Given the description of an element on the screen output the (x, y) to click on. 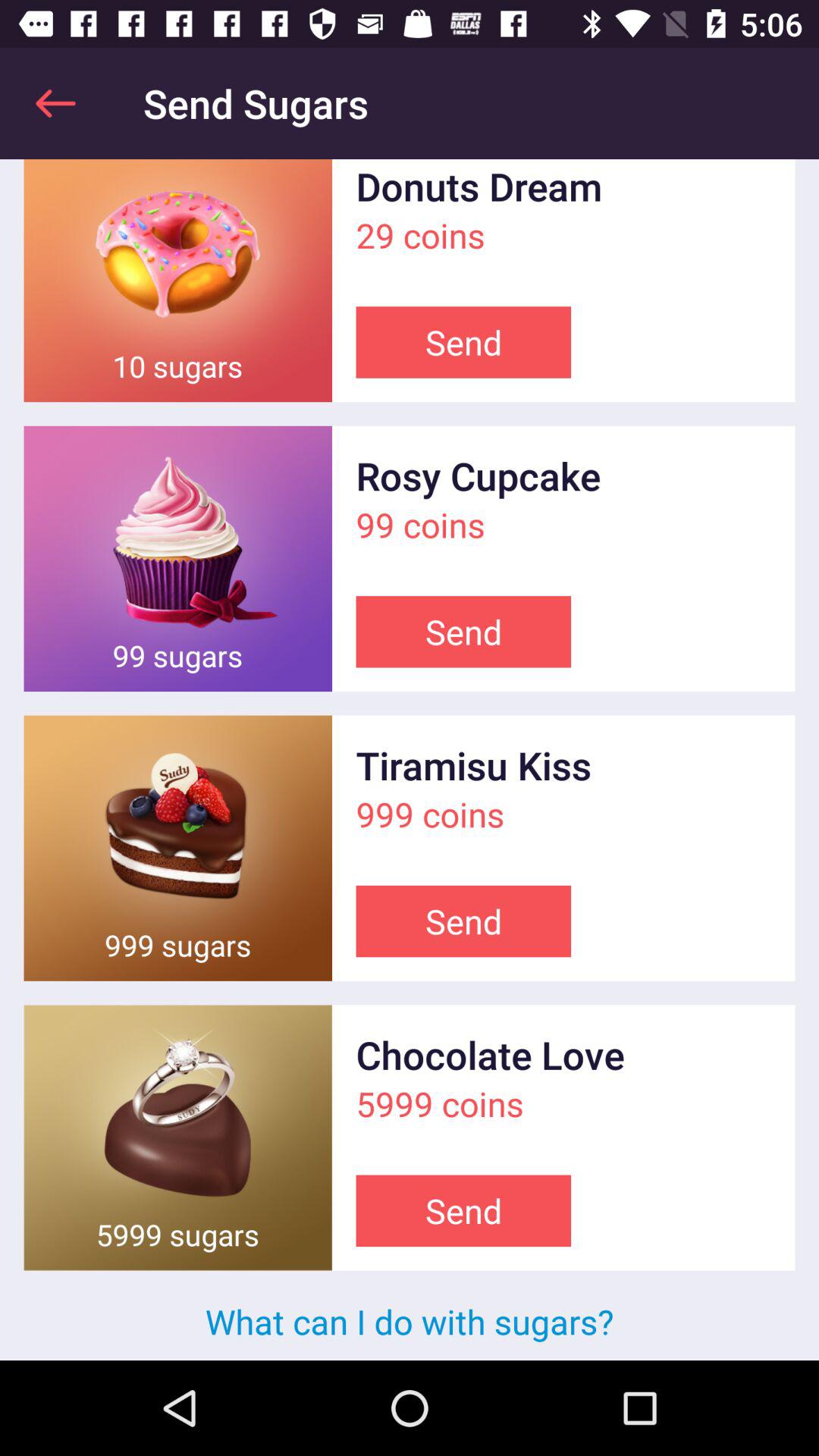
launch what can i icon (409, 1321)
